Given the description of an element on the screen output the (x, y) to click on. 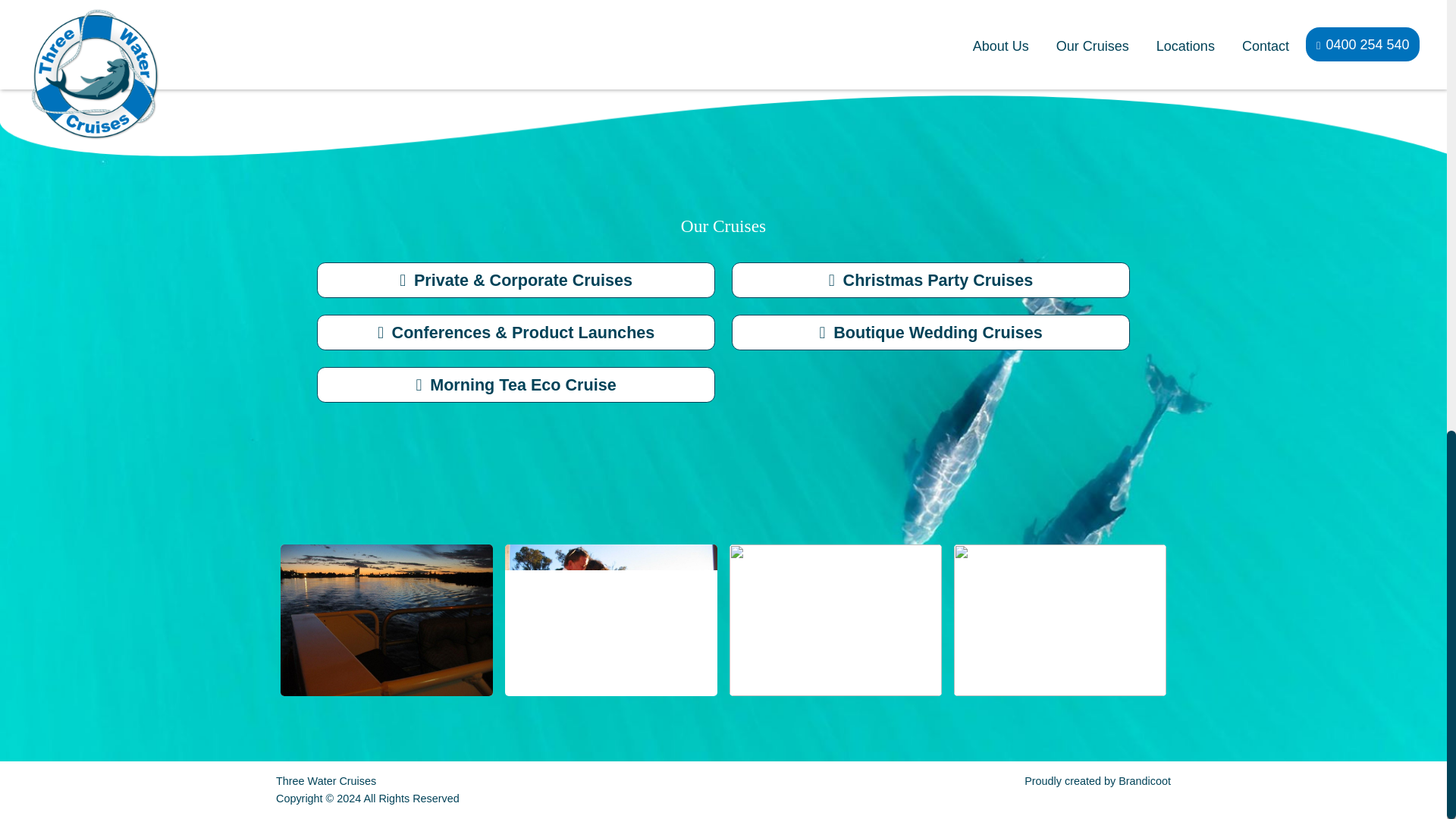
Boutique Wedding Cruises (930, 332)
Enquire about your next Group Cruise today! (723, 39)
Morning Tea Eco Cruise (515, 384)
Christmas Party Cruises (930, 280)
Brandicoot (1144, 780)
